Given the description of an element on the screen output the (x, y) to click on. 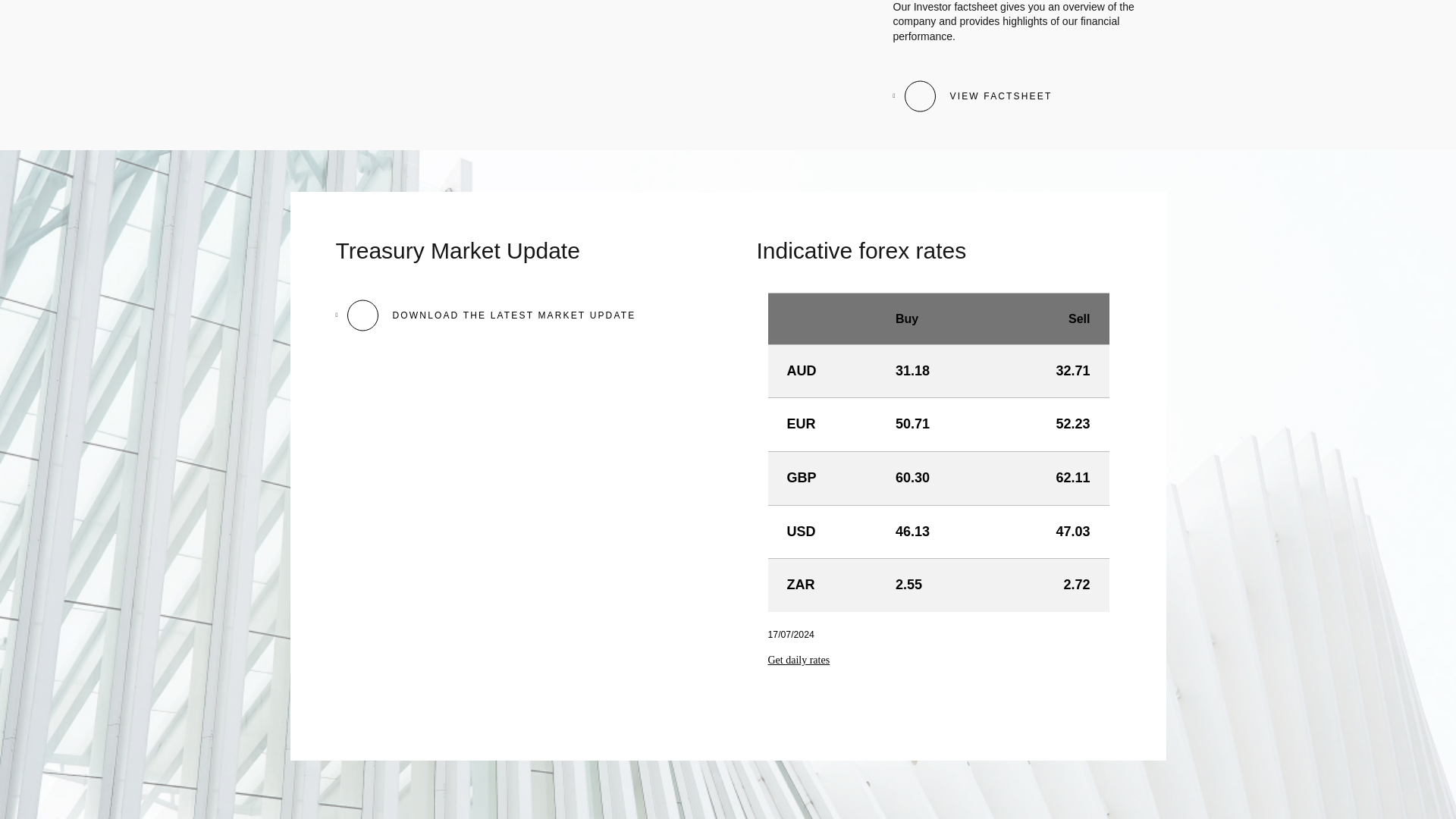
VIEW FACTSHEET (972, 96)
DOWNLOAD THE LATEST MARKET UPDATE (484, 315)
